Given the description of an element on the screen output the (x, y) to click on. 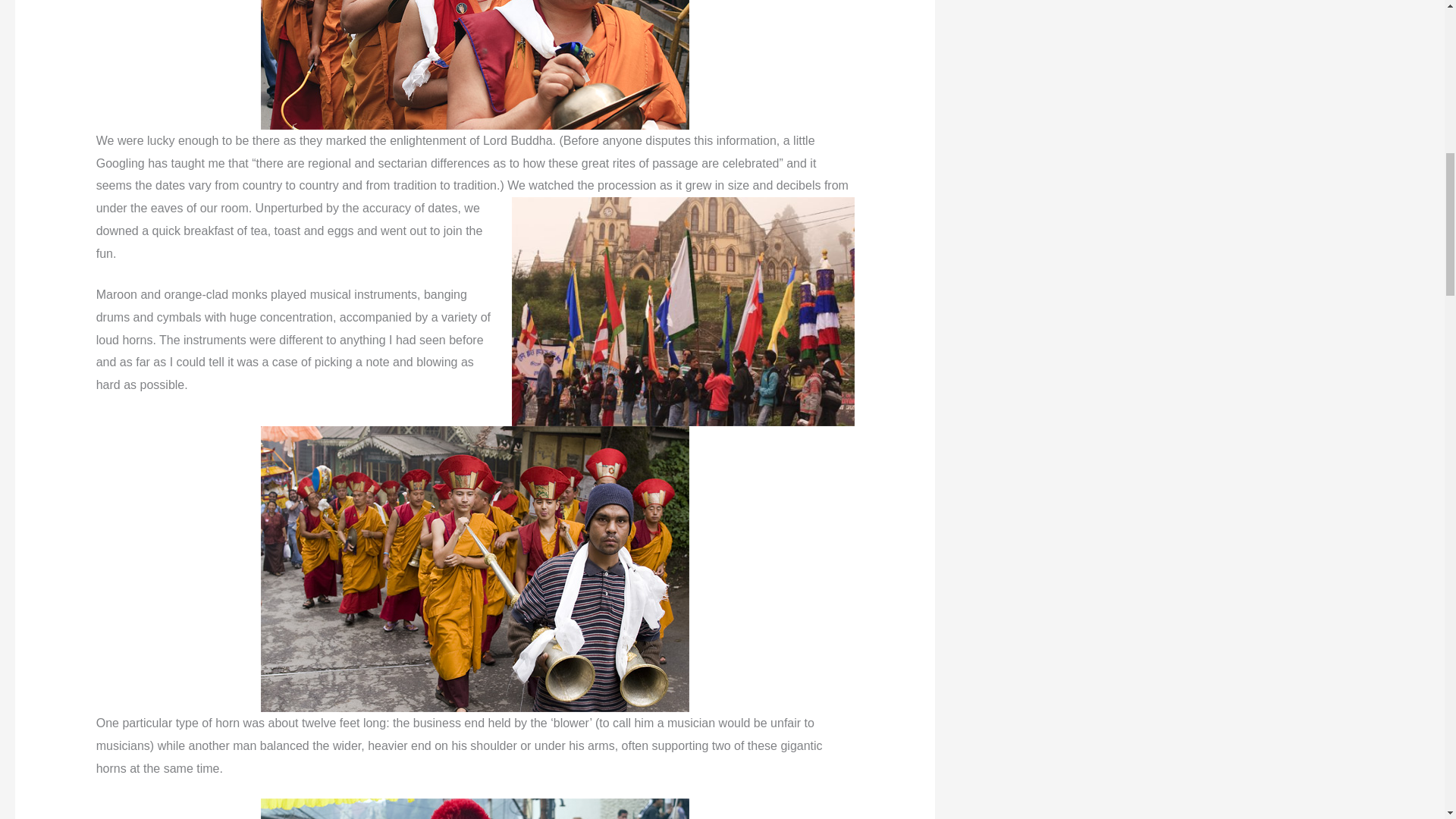
Buddha Time (474, 64)
Big horns in Darjeeling (474, 568)
Buddhist trumpet (474, 808)
Buddhism and the church (683, 311)
